Given the description of an element on the screen output the (x, y) to click on. 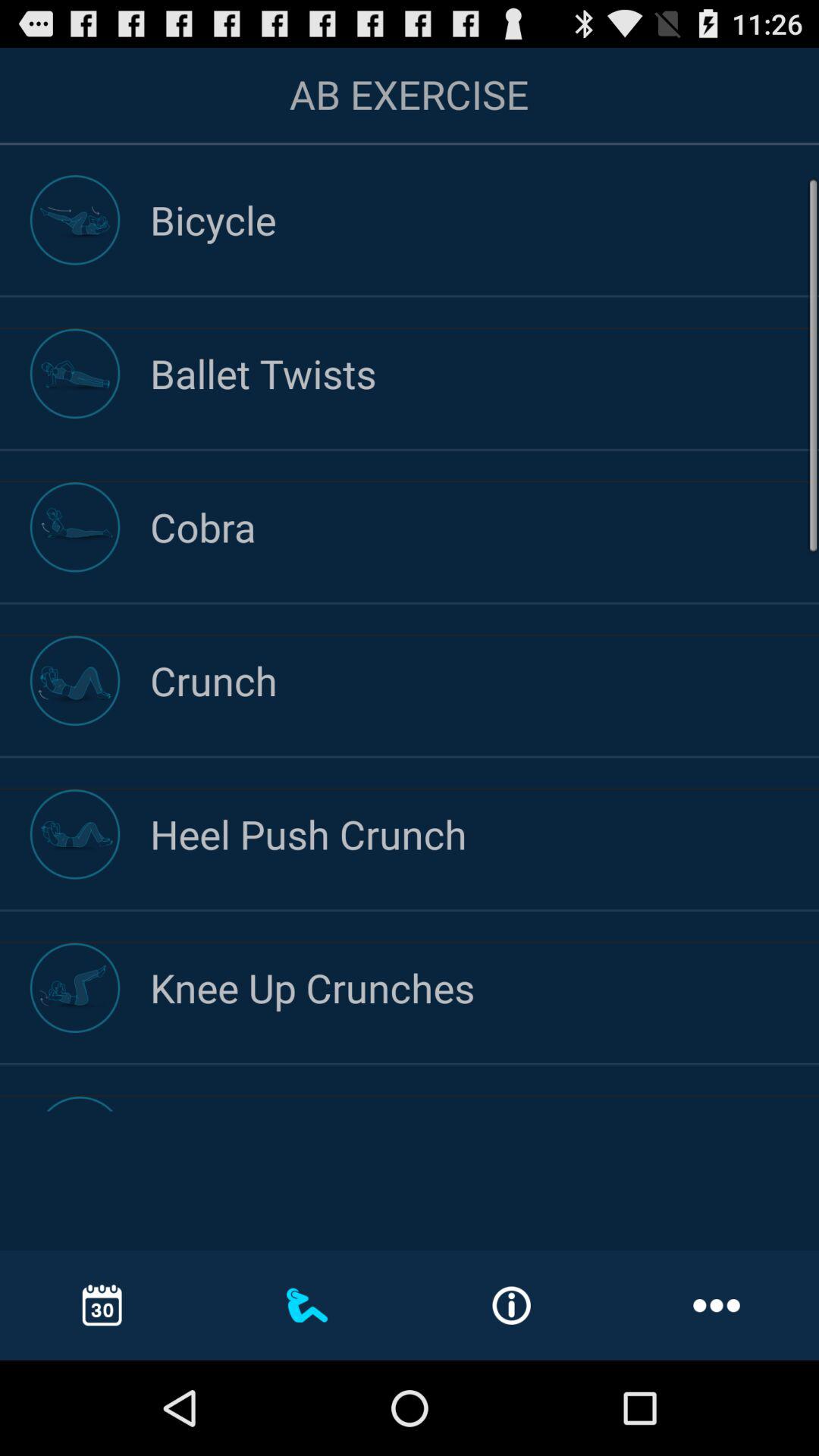
select heel push crunch app (484, 833)
